Given the description of an element on the screen output the (x, y) to click on. 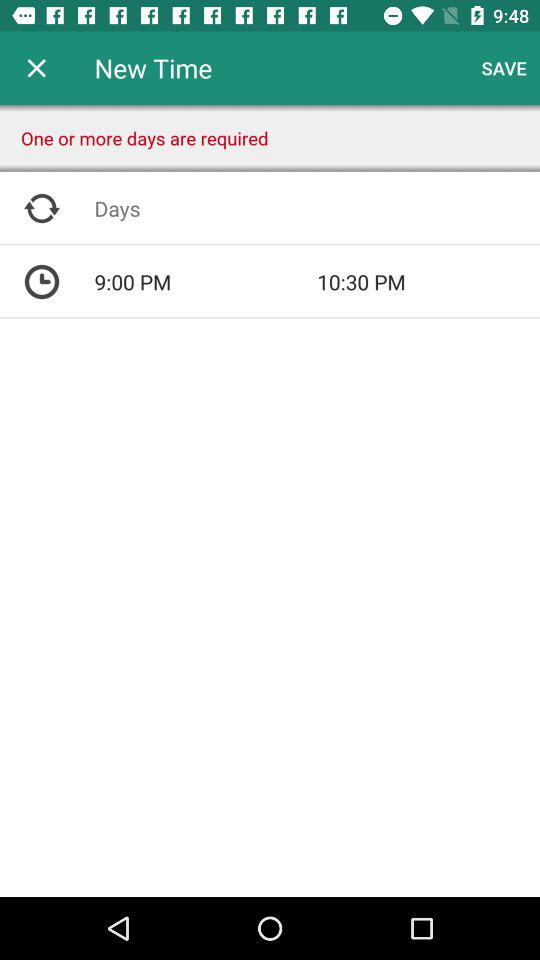
choose app to the left of new time app (36, 68)
